Given the description of an element on the screen output the (x, y) to click on. 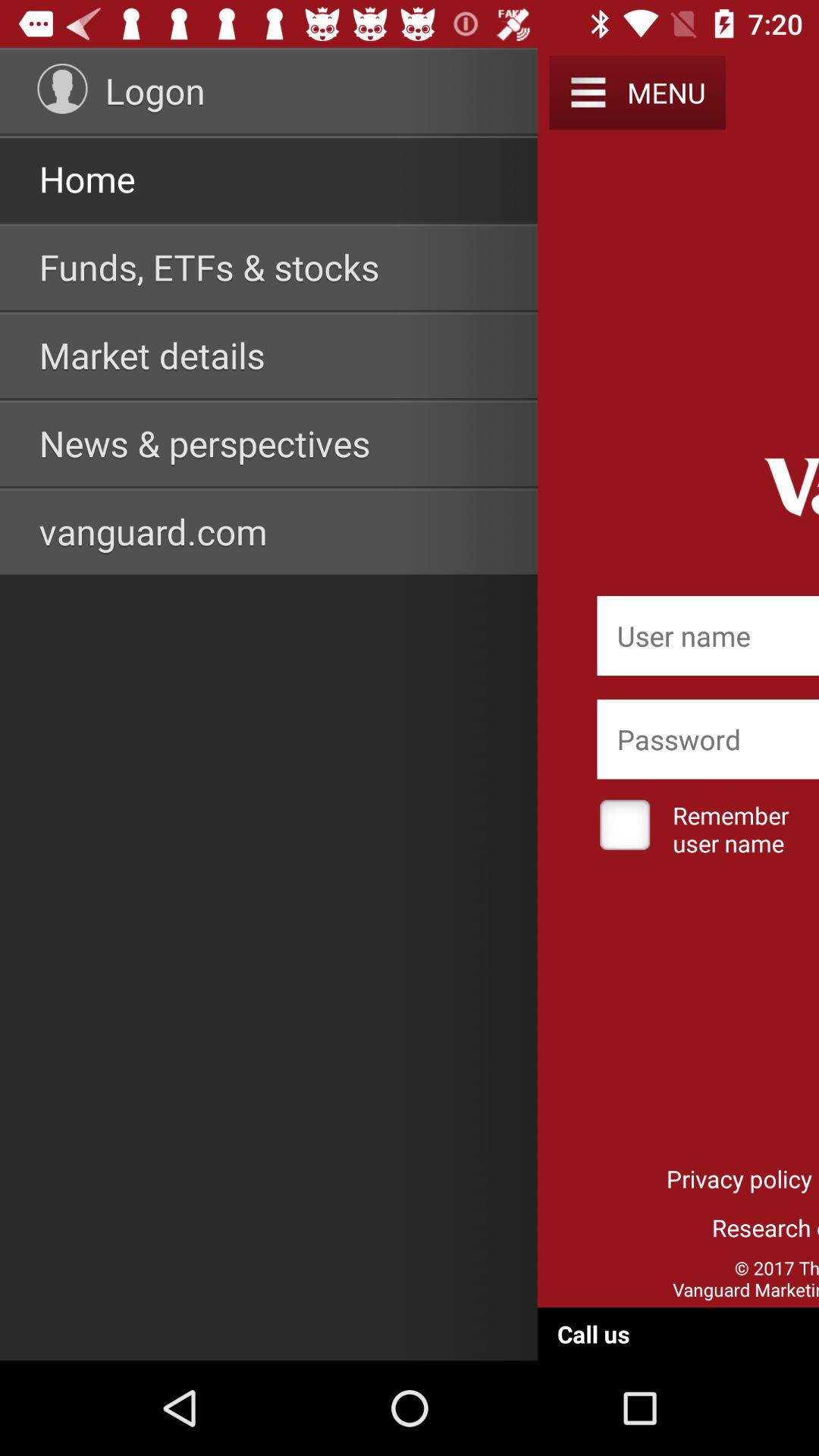
jump to the privacy policy icon (739, 1178)
